Given the description of an element on the screen output the (x, y) to click on. 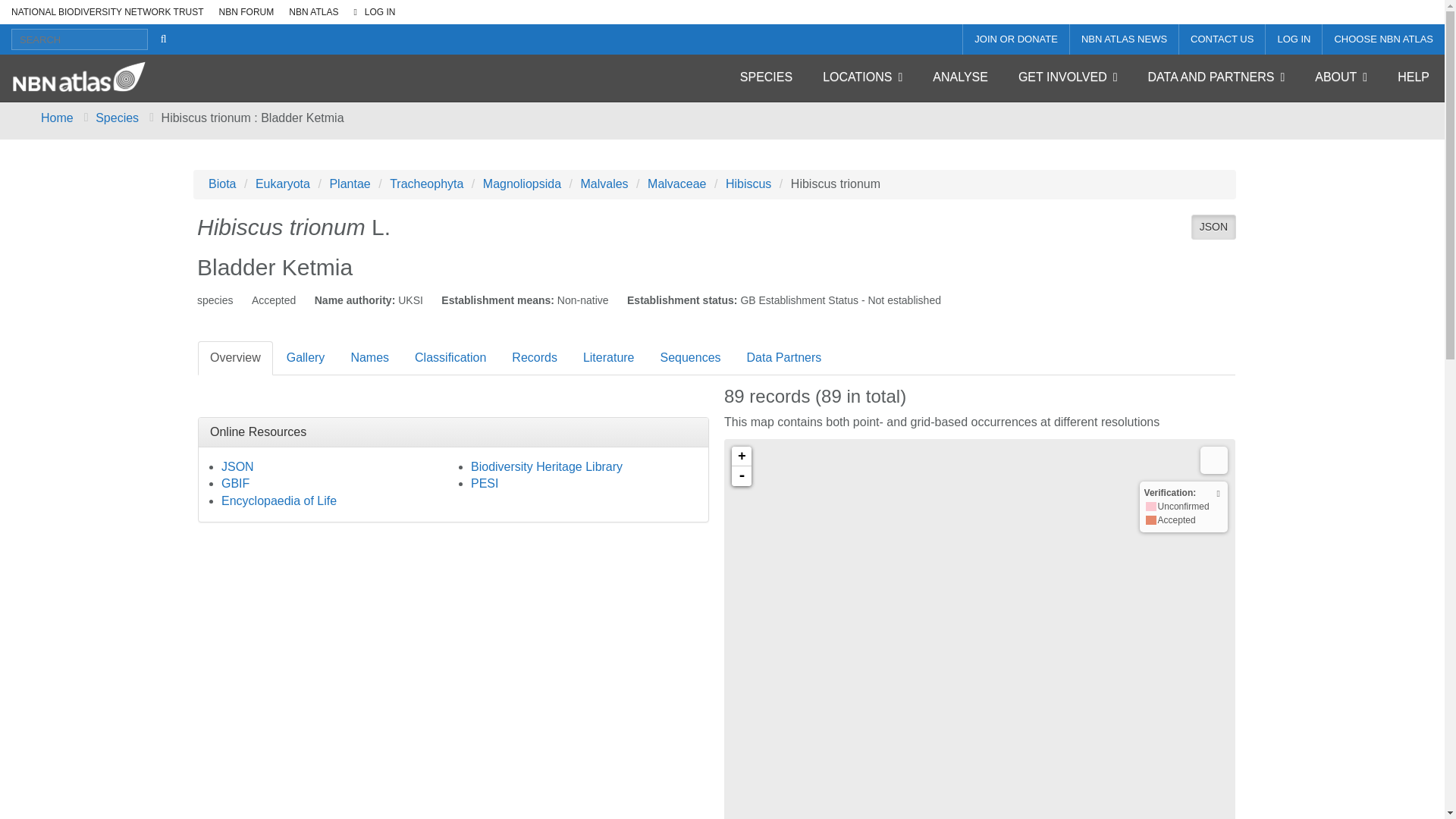
Zoom in (741, 456)
GET INVOLVED (1067, 76)
DATA AND PARTNERS (1216, 76)
NBN ATLAS (310, 12)
NBN ATLAS NEWS (1123, 39)
Zoom out (741, 476)
NATIONAL BIODIVERSITY NETWORK TRUST (104, 12)
ABOUT (1340, 76)
JOIN OR DONATE (1015, 39)
CONTACT US (1222, 39)
